Given the description of an element on the screen output the (x, y) to click on. 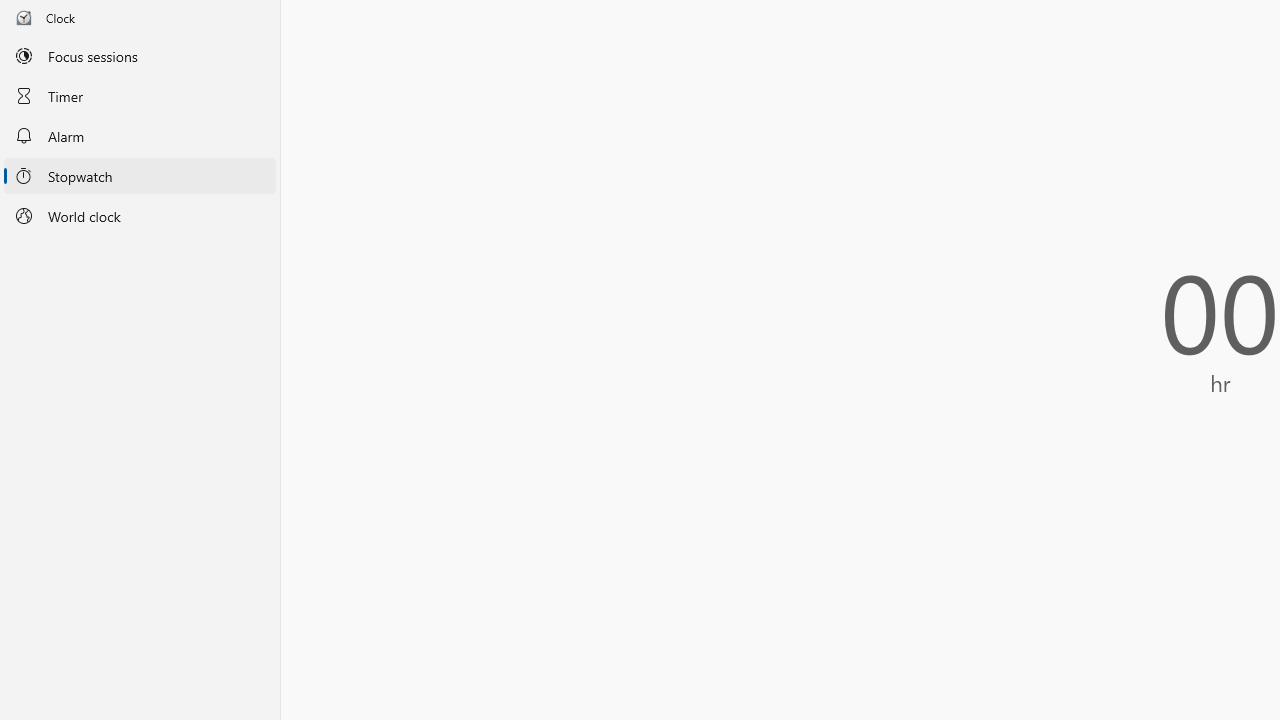
World clock (139, 216)
Stopwatch (139, 175)
Alarm (139, 136)
Focus sessions (139, 56)
Timer (139, 95)
